Given the description of an element on the screen output the (x, y) to click on. 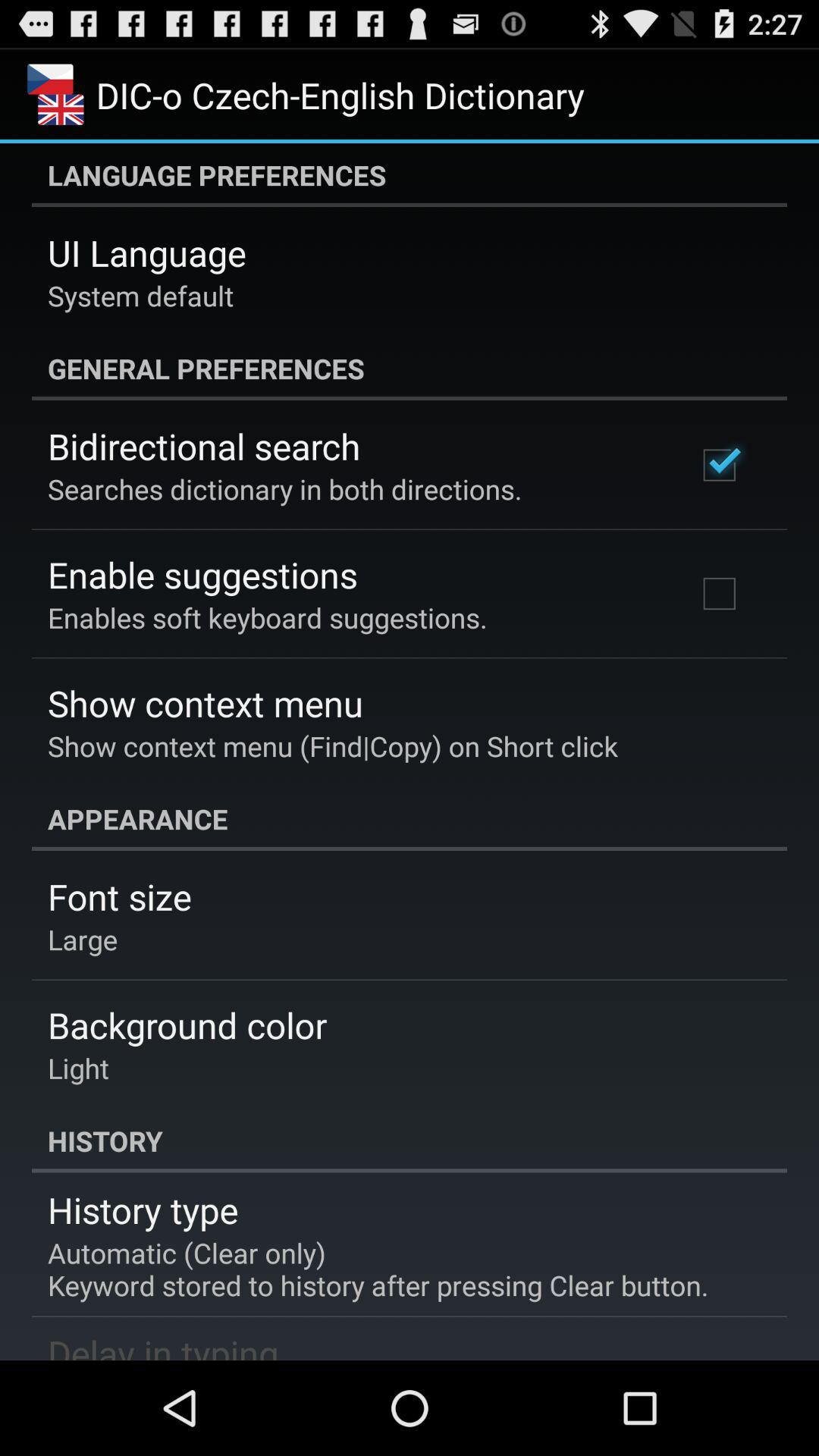
flip to the enables soft keyboard (267, 617)
